Given the description of an element on the screen output the (x, y) to click on. 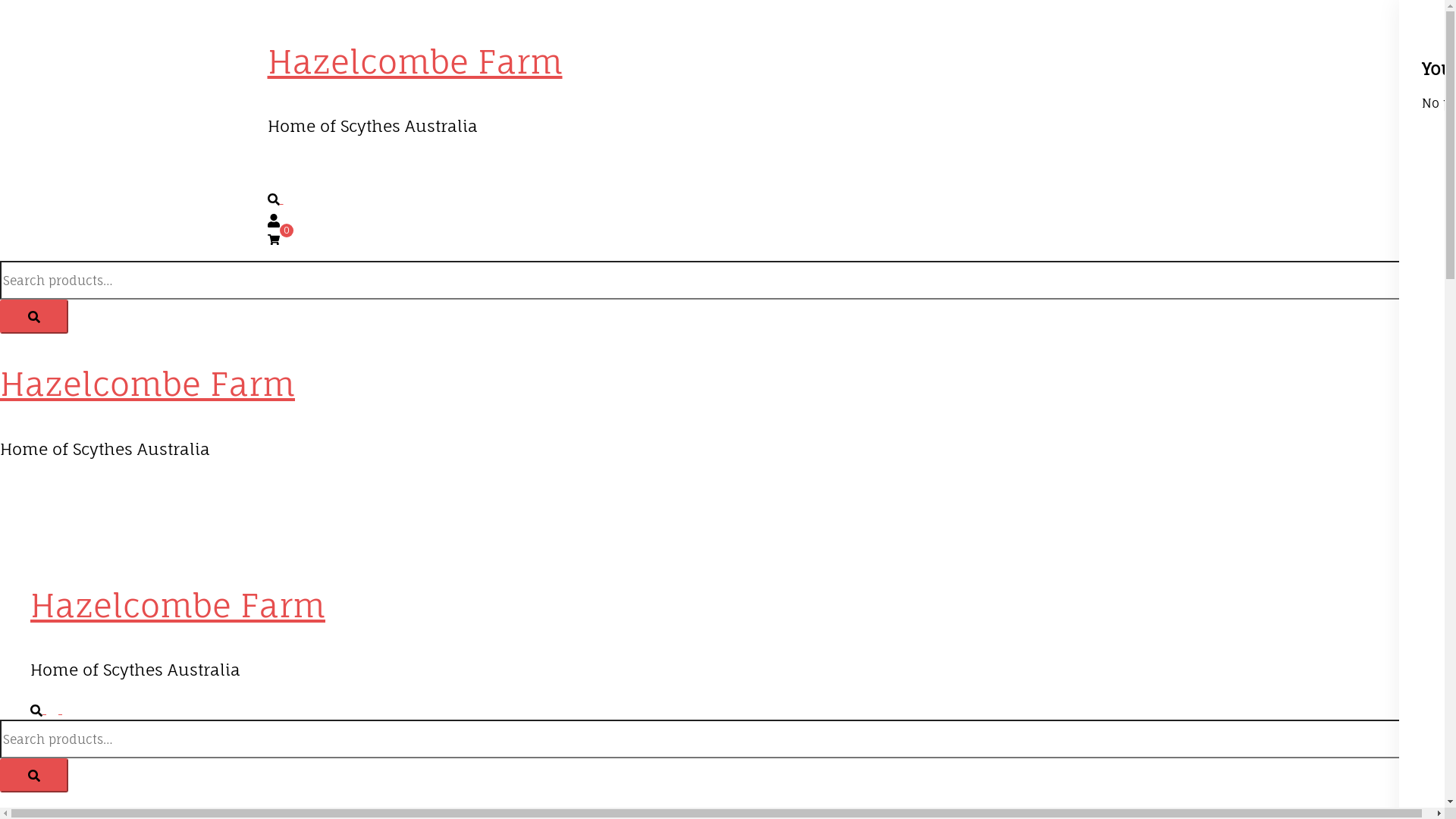
Contact Element type: text (236, 520)
Shop Element type: text (353, 165)
0 Element type: text (272, 238)
Toggle menu Element type: text (68, 708)
Your account Element type: hover (272, 217)
Search Element type: text (34, 316)
Close menu Element type: text (6, 487)
Home Element type: text (315, 165)
Home Element type: text (48, 520)
Hazelcombe Farm Element type: text (177, 605)
Our Journey Element type: text (141, 520)
Our Journey Element type: text (408, 165)
Blog Element type: text (196, 520)
Hazelcombe Farm Element type: text (413, 61)
Hazelcombe Farm Element type: text (147, 383)
Blog Element type: text (463, 165)
Search Element type: text (34, 775)
Contact Element type: text (503, 165)
Search Element type: text (46, 708)
Shop Element type: text (85, 520)
Search Element type: text (280, 198)
